Given the description of an element on the screen output the (x, y) to click on. 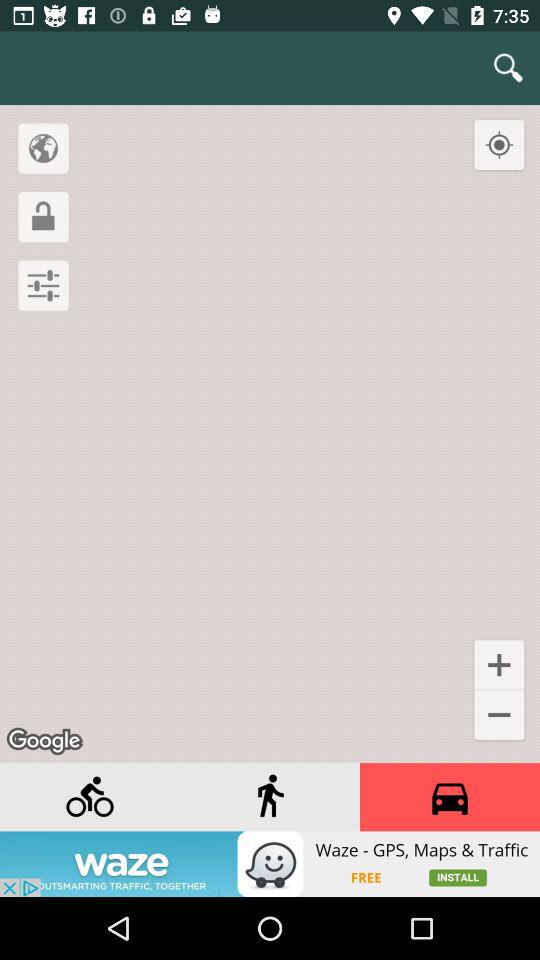
click to the street view (270, 797)
